Given the description of an element on the screen output the (x, y) to click on. 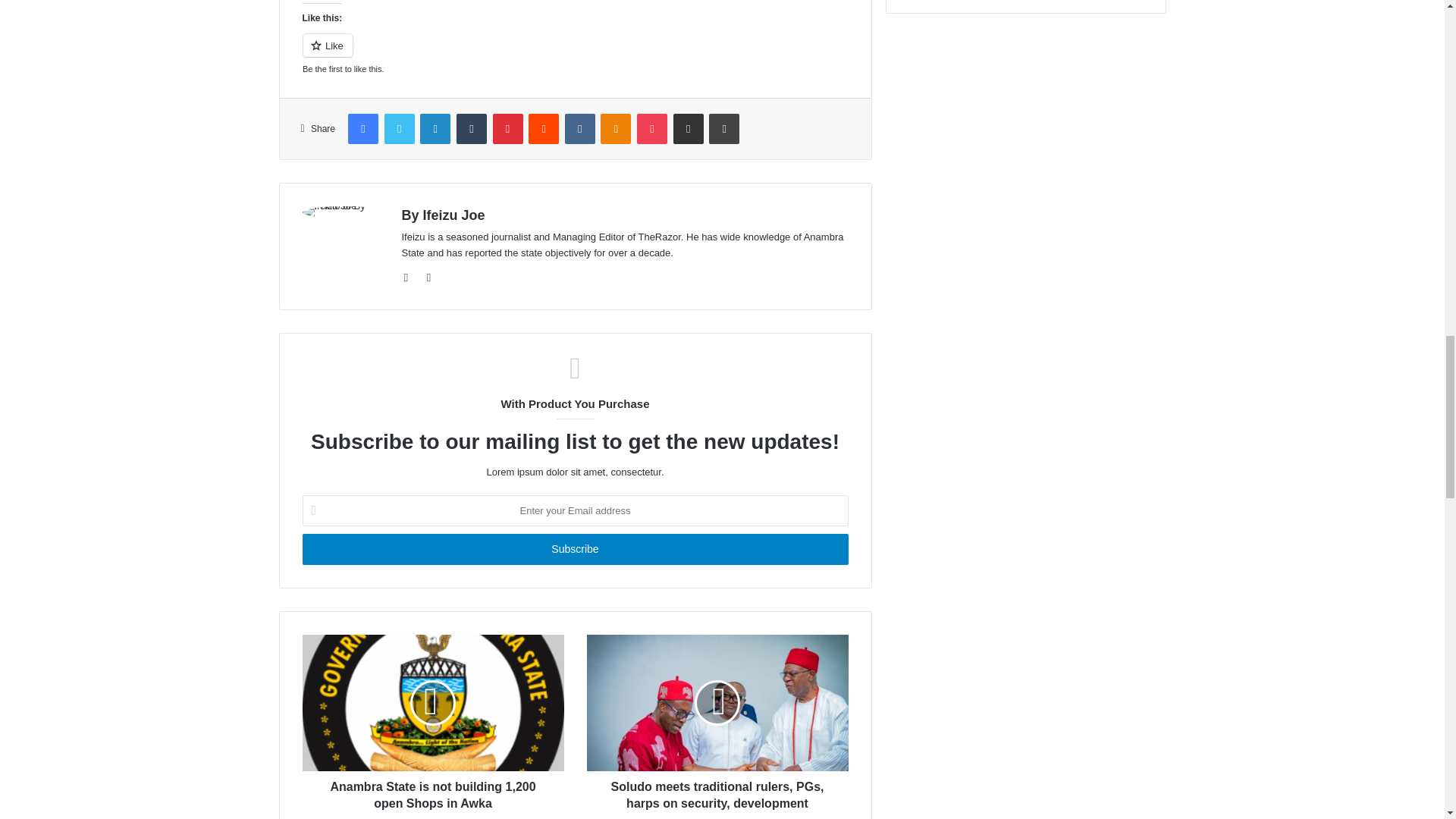
Subscribe (574, 549)
